Given the description of an element on the screen output the (x, y) to click on. 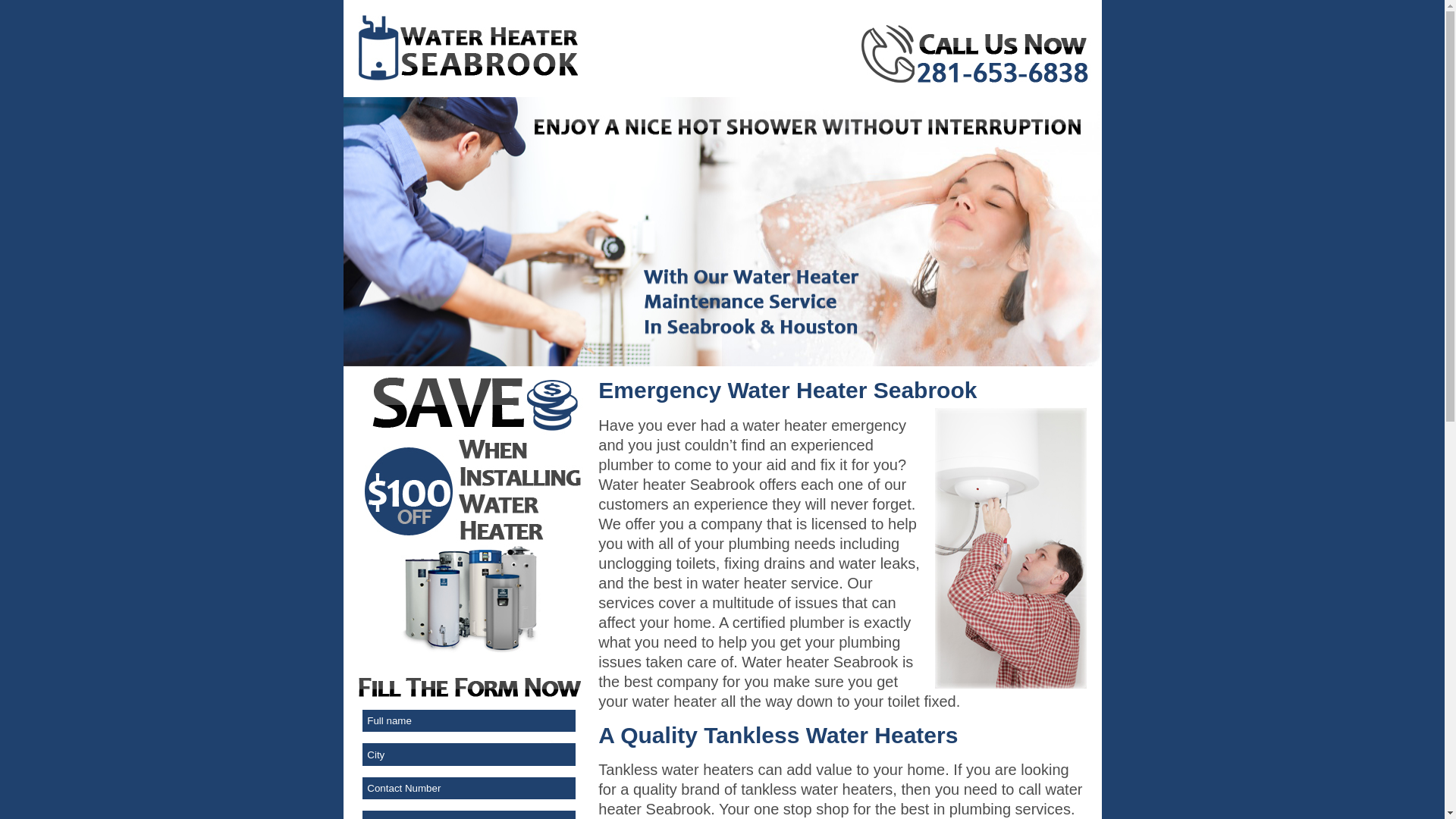
Email Address (468, 814)
Full name (468, 721)
Contact Number (468, 788)
City (468, 753)
